Given the description of an element on the screen output the (x, y) to click on. 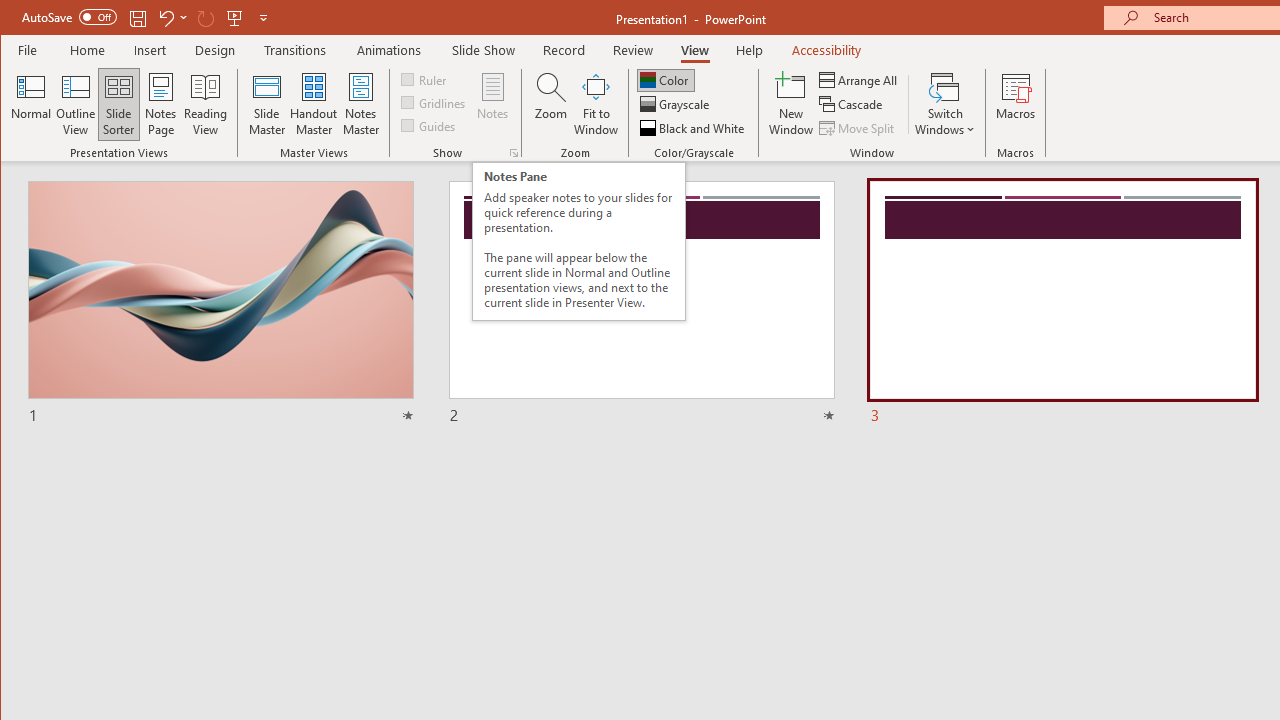
Grid Settings... (513, 152)
Switch Windows (944, 104)
